Given the description of an element on the screen output the (x, y) to click on. 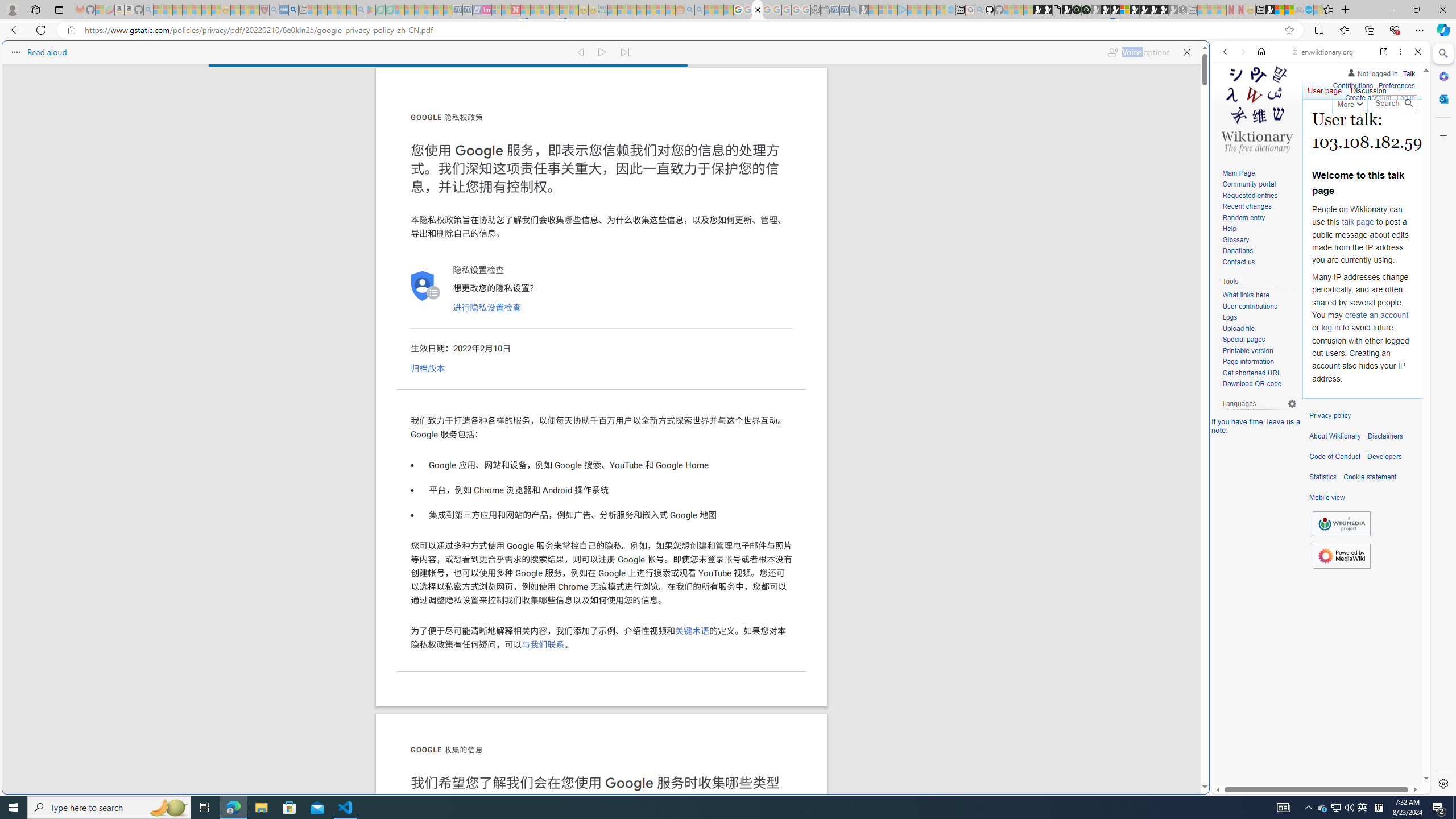
Contributions (1352, 84)
User contributions (1248, 306)
Statistics (1322, 477)
Play Free Online Games | Games from Microsoft Start (1144, 9)
utah sues federal government - Search (922, 389)
Read previous paragraph (579, 49)
Expert Portfolios - Sleeping (640, 9)
Disclaimers (1385, 436)
Play Cave FRVR in your browser | Games from Microsoft Start (922, 242)
